Given the description of an element on the screen output the (x, y) to click on. 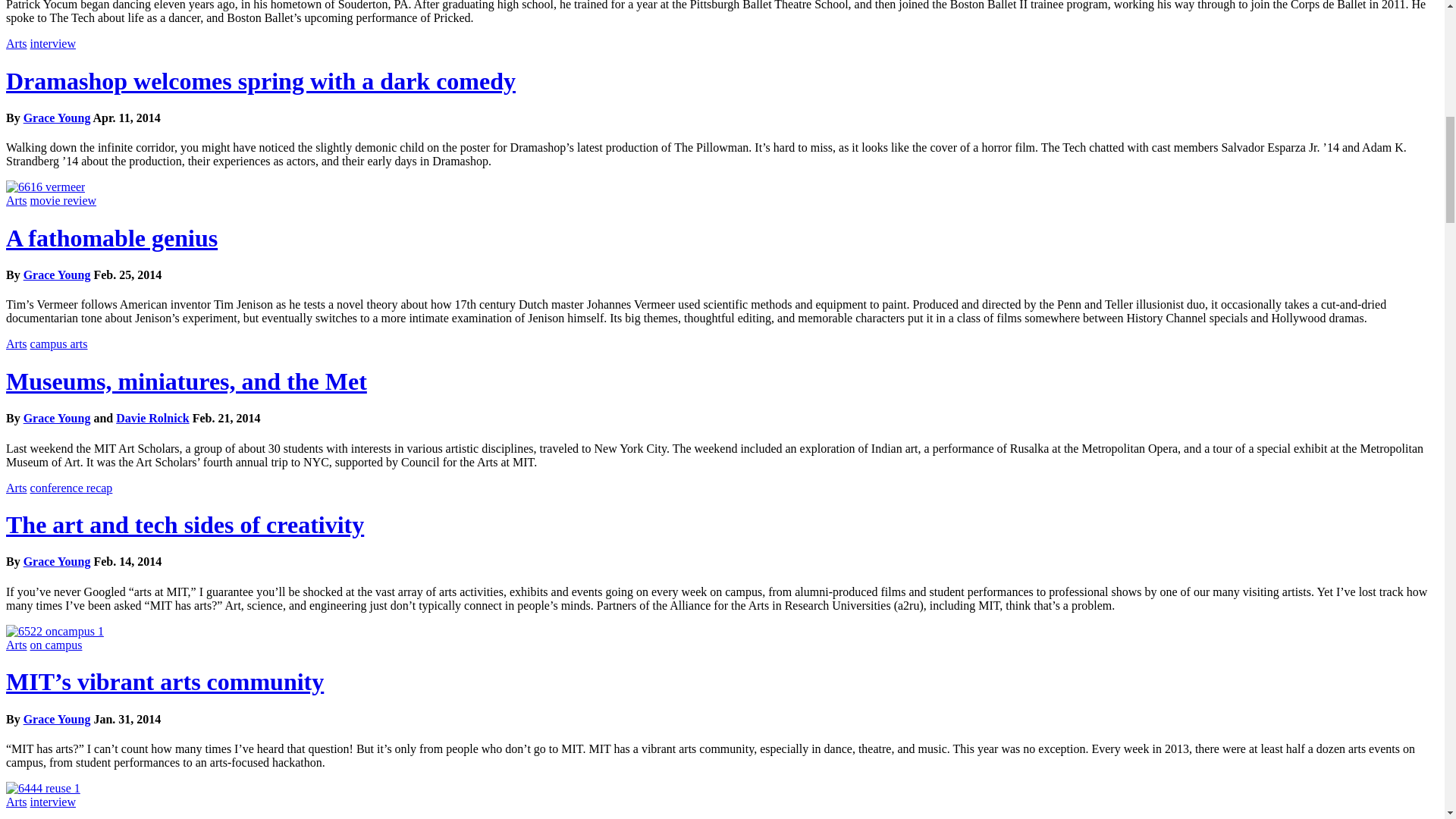
Arts (16, 42)
Dramashop welcomes spring with a dark comedy (260, 81)
interview (52, 42)
